Given the description of an element on the screen output the (x, y) to click on. 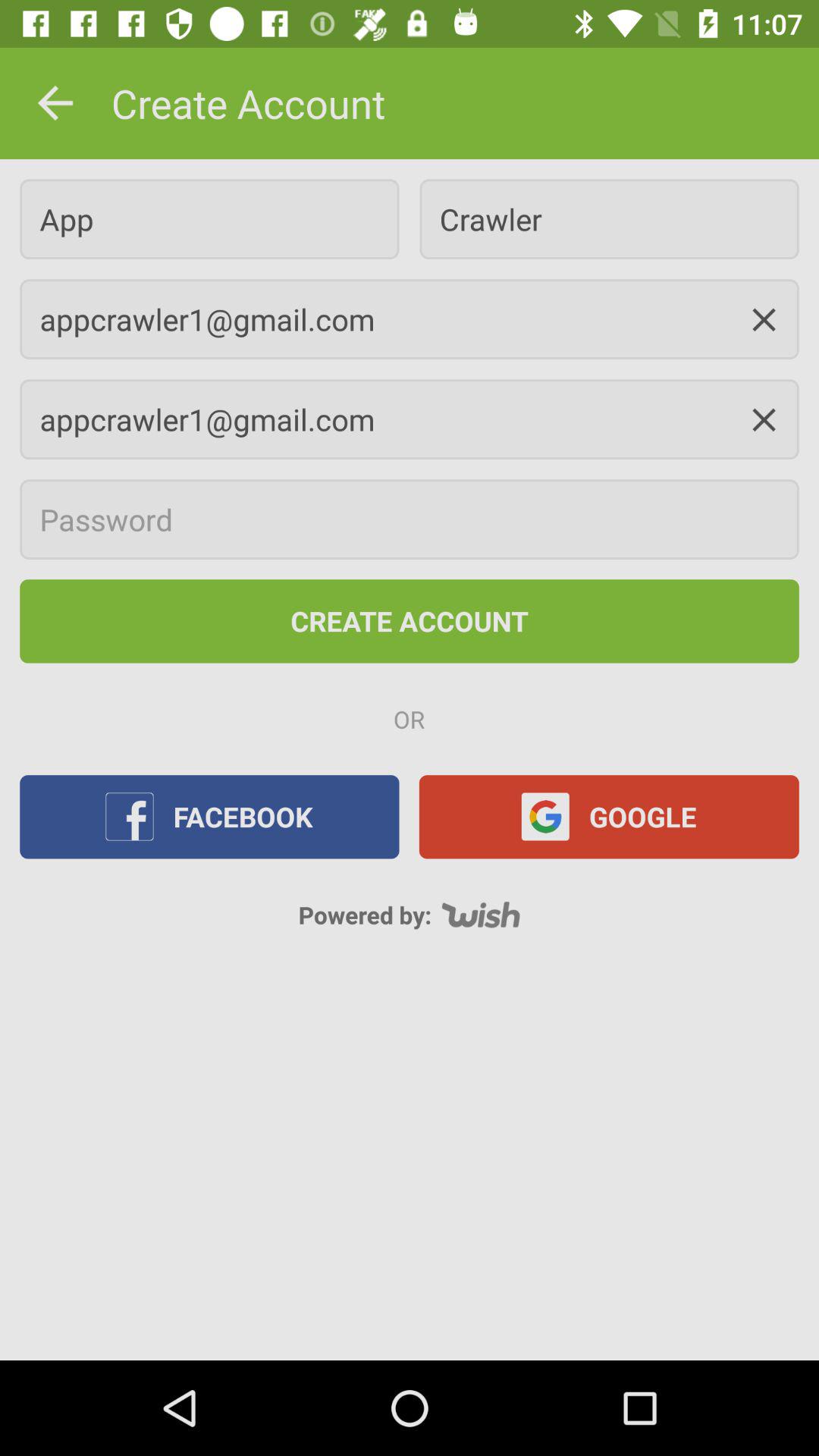
launch item next to the crawler (209, 219)
